Given the description of an element on the screen output the (x, y) to click on. 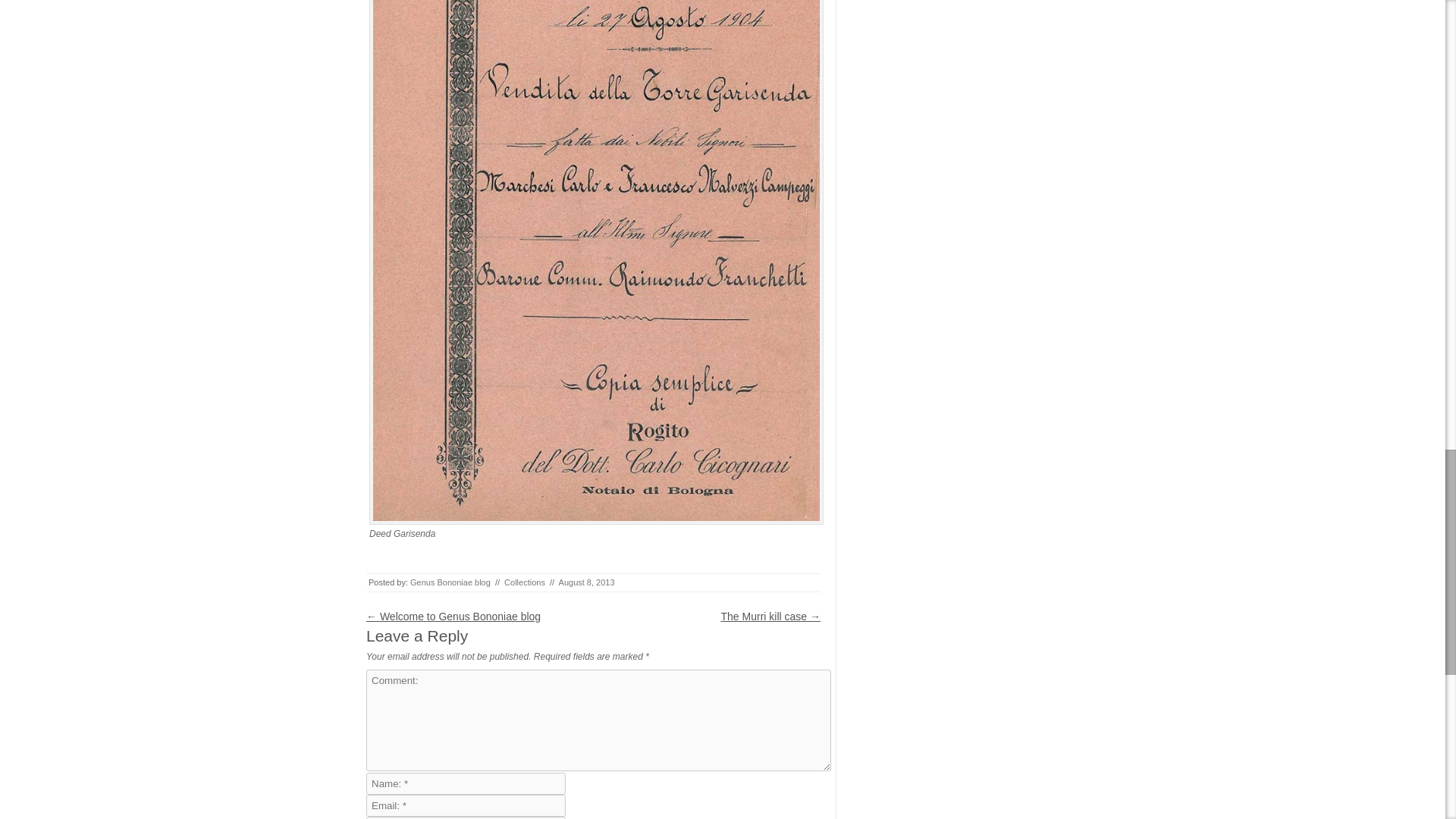
August 8, 2013 (586, 582)
10:38 (586, 582)
Collections (523, 582)
Genus Bononiae blog (450, 582)
View all posts by Genus Bononiae blog (450, 582)
